Given the description of an element on the screen output the (x, y) to click on. 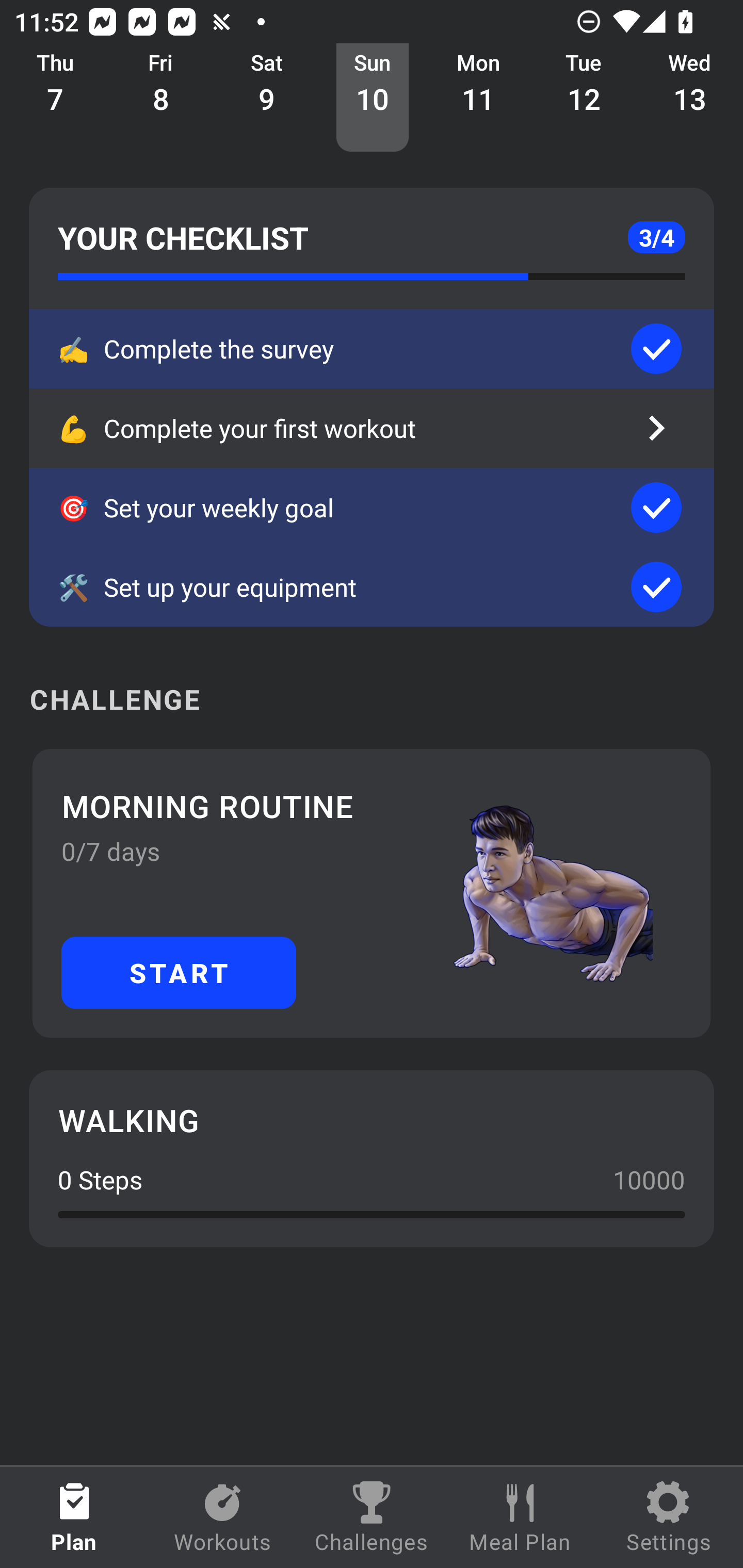
Thu 7 (55, 97)
Fri 8 (160, 97)
Sat 9 (266, 97)
Sun 10 (372, 97)
Mon 11 (478, 97)
Tue 12 (584, 97)
Wed 13 (690, 97)
💪 Complete your first workout (371, 427)
MORNING ROUTINE 0/7 days START (371, 892)
START (178, 972)
WALKING 0 Steps 10000 0.0 (371, 1158)
 Workouts  (222, 1517)
 Challenges  (371, 1517)
 Meal Plan  (519, 1517)
 Settings  (668, 1517)
